Given the description of an element on the screen output the (x, y) to click on. 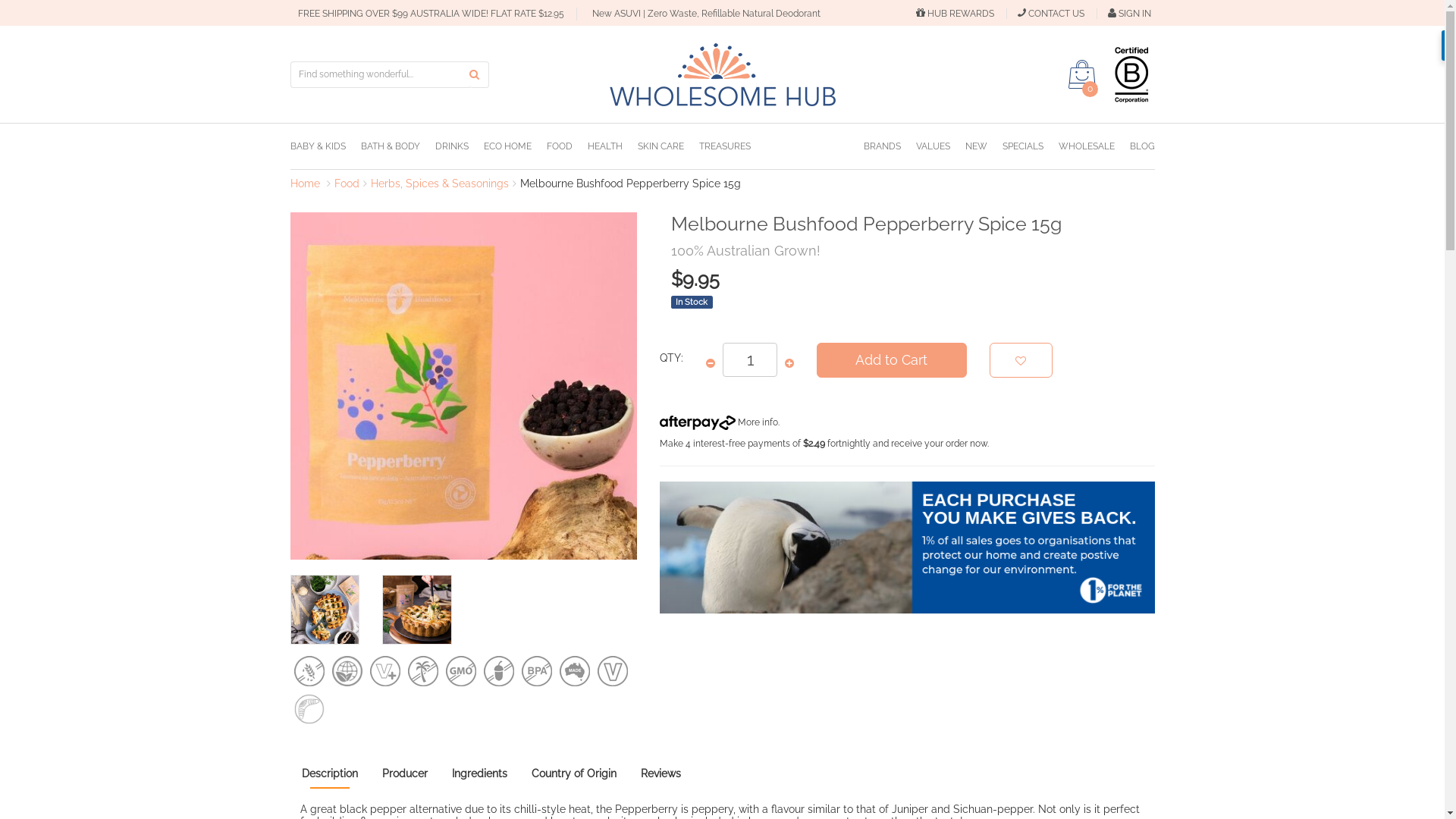
Herbs, Spices & Seasonings Element type: text (439, 183)
Ingredients Element type: text (478, 773)
More info Element type: text (718, 422)
Add to Cart Element type: text (891, 359)
FREE SHIPPING OVER $99 AUSTRALIA WIDE! FLAT RATE $12.95 Element type: text (426, 13)
Wholesome Hub Element type: hover (722, 73)
0 Element type: text (1081, 74)
BABY & KIDS Element type: text (324, 146)
SKIN CARE Element type: text (667, 146)
HEALTH Element type: text (611, 146)
BATH & BODY Element type: text (397, 146)
Country of Origin Element type: text (573, 773)
BLOG Element type: text (1141, 146)
Reviews  Element type: text (662, 773)
Melbourne Bushfood Pepperberry Spice 15g Element type: hover (463, 385)
Producer Element type: text (404, 773)
WHOLESALE Element type: text (1093, 146)
ECO HOME Element type: text (514, 146)
New ASUVI | Zero Waste, Refillable Natural Deodorant  Element type: text (702, 13)
TREASURES Element type: text (724, 146)
DRINKS Element type: text (459, 146)
CONTACT US Element type: text (1057, 13)
FOOD Element type: text (566, 146)
Home Element type: text (304, 183)
Description Element type: text (328, 773)
Large View Element type: hover (324, 609)
SIGN IN Element type: text (1128, 13)
Melbourne Bushfood Pepperberry Spice 15g Element type: text (630, 183)
Food Element type: text (345, 183)
NEW Element type: text (982, 146)
SPECIALS Element type: text (1030, 146)
Large View Element type: hover (416, 609)
BRANDS Element type: text (888, 146)
HUB REWARDS Element type: text (961, 13)
VALUES Element type: text (940, 146)
Search Element type: text (479, 74)
